Given the description of an element on the screen output the (x, y) to click on. 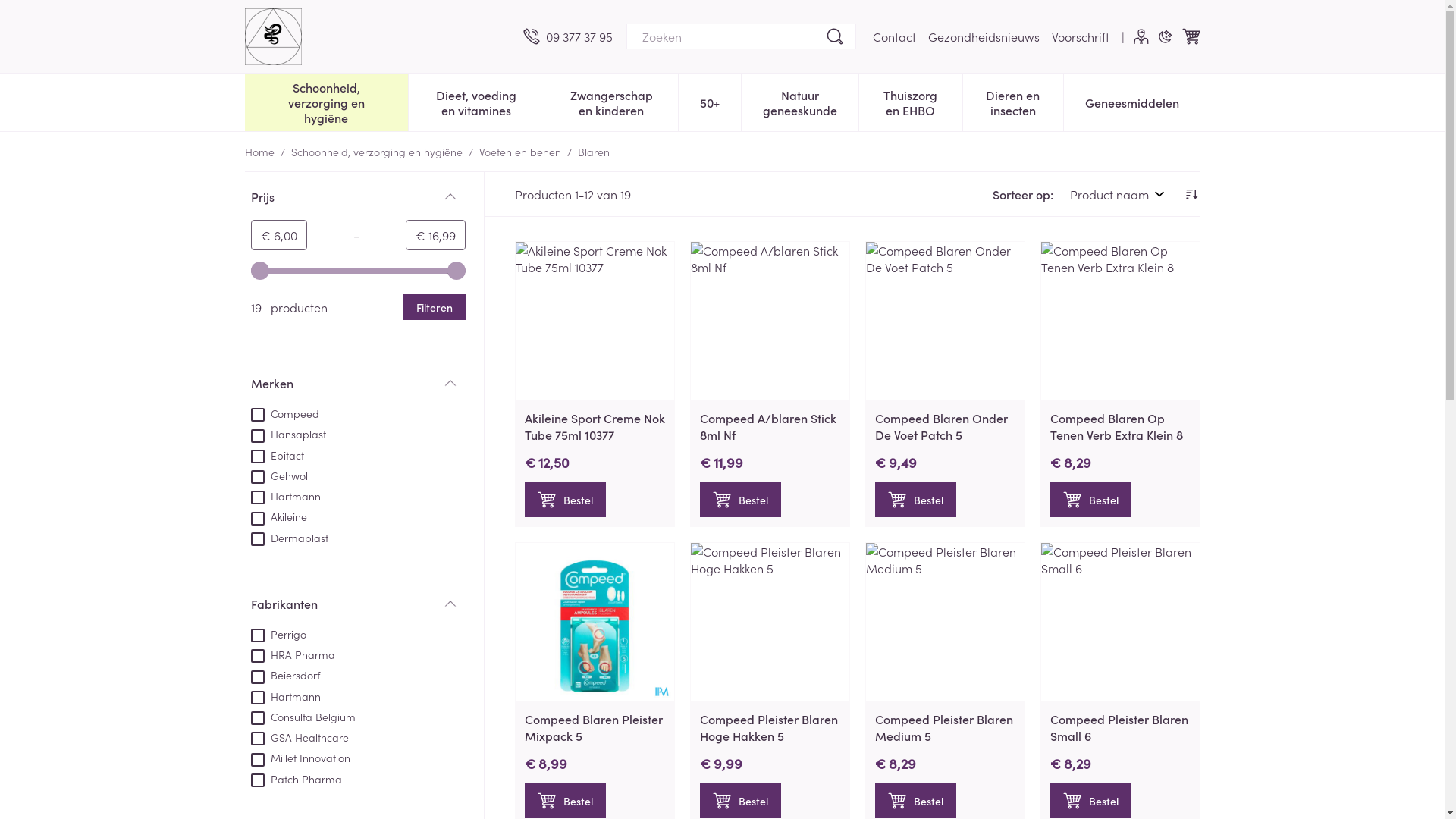
on Element type: text (256, 476)
Compeed Pleister Blaren Small 6 Element type: text (1118, 726)
Dieren en insecten Element type: text (1013, 100)
Compeed Pleister Blaren Medium 5 Element type: text (944, 726)
Bestel Element type: text (739, 499)
Akileine Sport Creme Nok Tube 75ml 10377 Element type: text (594, 425)
Akileine Element type: text (278, 515)
Consulta Belgium Element type: text (302, 715)
Gehwol Element type: text (278, 474)
on Element type: text (256, 677)
on Element type: text (256, 759)
on Element type: text (256, 435)
on Element type: text (256, 539)
Compeed Blaren Pleister Mixpack 5 Element type: hover (594, 621)
Thuiszorg en EHBO Element type: text (910, 100)
Bestel Element type: text (915, 800)
09 377 37 95 Element type: text (567, 36)
on Element type: text (256, 456)
Millet Innovation Element type: text (299, 756)
50+ Element type: text (709, 100)
Hansaplast Element type: text (287, 432)
Contact Element type: text (893, 36)
on Element type: text (256, 738)
Gezondheidsnieuws Element type: text (983, 36)
Bestel Element type: text (1089, 800)
Compeed Blaren Onder De Voet Patch 5 Element type: text (941, 425)
Natuur geneeskunde Element type: text (799, 100)
Beiersdorf Element type: text (284, 673)
Compeed A/blaren Stick 8ml Nf Element type: text (767, 425)
Bestel Element type: text (564, 499)
Zwangerschap en kinderen Element type: text (610, 100)
Winkelwagen Element type: text (1190, 36)
Epitact Element type: text (276, 453)
Hartmann Element type: text (285, 695)
Aflopende richting instellen Element type: hover (1190, 193)
Voeten en benen Element type: text (520, 151)
Geneesmiddelen Element type: text (1131, 100)
HRA Pharma Element type: text (292, 653)
Bestel Element type: text (1089, 499)
Compeed Blaren Pleister Mixpack 5 Element type: text (593, 726)
Compeed Pleister Blaren Small 6 Element type: hover (1119, 621)
on Element type: text (256, 780)
Zoeken Element type: text (834, 36)
Bestel Element type: text (739, 800)
on Element type: text (256, 717)
Bestel Element type: text (564, 800)
on Element type: text (256, 518)
Apotheek De Groote - Croubels Element type: hover (272, 35)
Home Element type: text (258, 151)
Perrigo Element type: text (277, 632)
Klant menu Element type: text (1140, 35)
on Element type: text (256, 697)
Apotheek De Groote - Croubels Element type: hover (377, 36)
Bestel Element type: text (915, 499)
Compeed A/blaren Stick 8ml Nf Element type: hover (769, 320)
on Element type: text (256, 414)
Dieet, voeding en vitamines Element type: text (475, 100)
on Element type: text (256, 635)
Donkere modus Element type: text (1164, 35)
Akileine Sport Creme Nok Tube 75ml 10377 Element type: hover (594, 320)
on Element type: text (256, 497)
Compeed Pleister Blaren Medium 5 Element type: hover (945, 621)
Compeed Blaren Op Tenen Verb Extra Klein 8 Element type: text (1115, 425)
Compeed Blaren Onder De Voet Patch 5 Element type: hover (945, 320)
Hartmann Element type: text (285, 494)
Dermaplast Element type: text (288, 536)
Compeed Pleister Blaren Hoge Hakken 5 Element type: text (768, 726)
on Element type: text (256, 655)
Filteren Element type: text (434, 307)
Compeed Blaren Op Tenen Verb Extra Klein 8 Element type: hover (1119, 320)
Patch Pharma Element type: text (295, 777)
GSA Healthcare Element type: text (299, 736)
Voorschrift Element type: text (1079, 36)
Compeed Element type: text (284, 412)
Compeed Pleister Blaren Hoge Hakken 5 Element type: hover (769, 621)
